Given the description of an element on the screen output the (x, y) to click on. 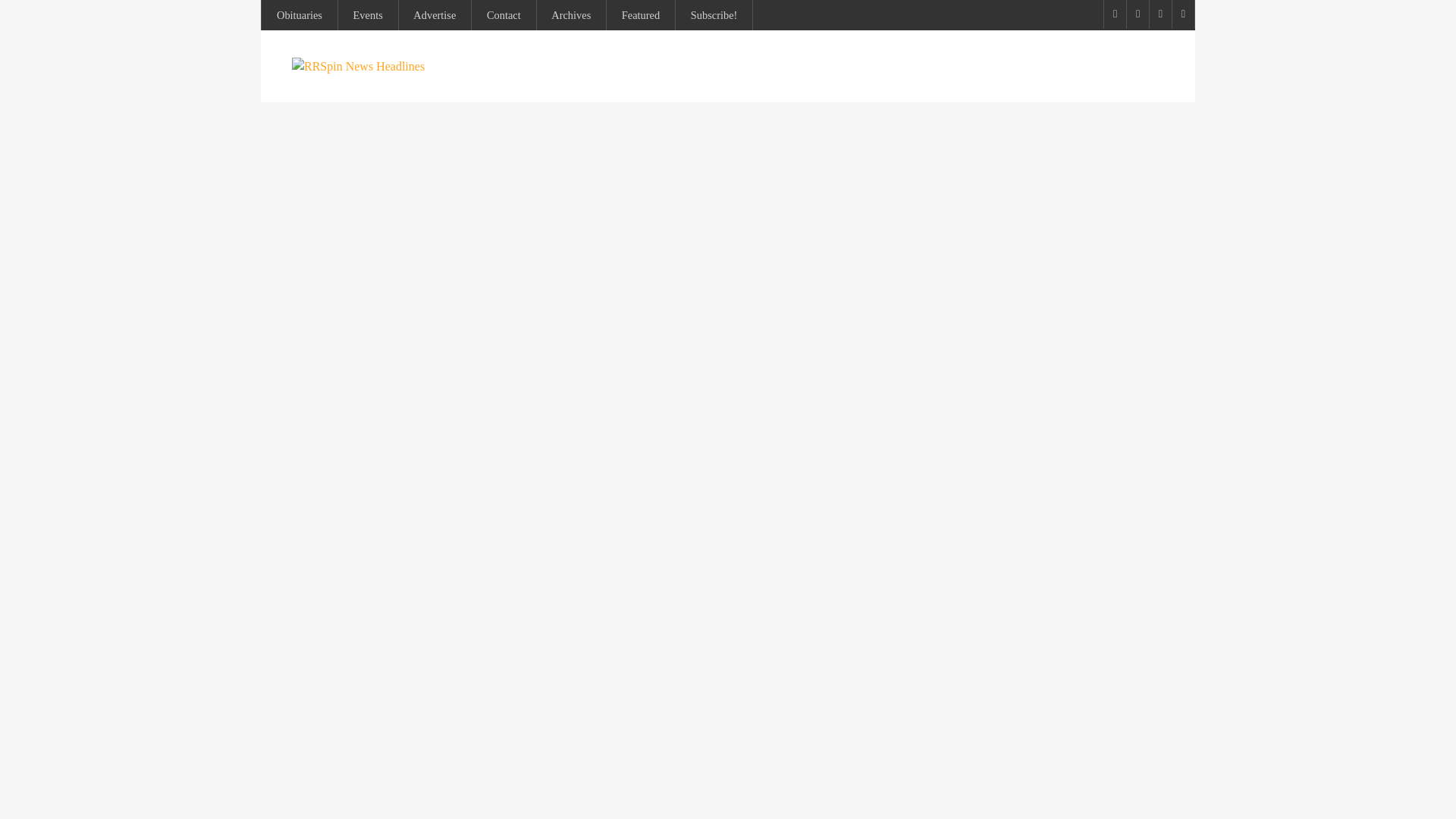
Featured (641, 15)
Obituaries (299, 15)
Contact (503, 15)
RRSpin News Headlines (358, 66)
Subscribe! (713, 15)
Advertise (433, 15)
Archives (570, 15)
Events (367, 15)
